Given the description of an element on the screen output the (x, y) to click on. 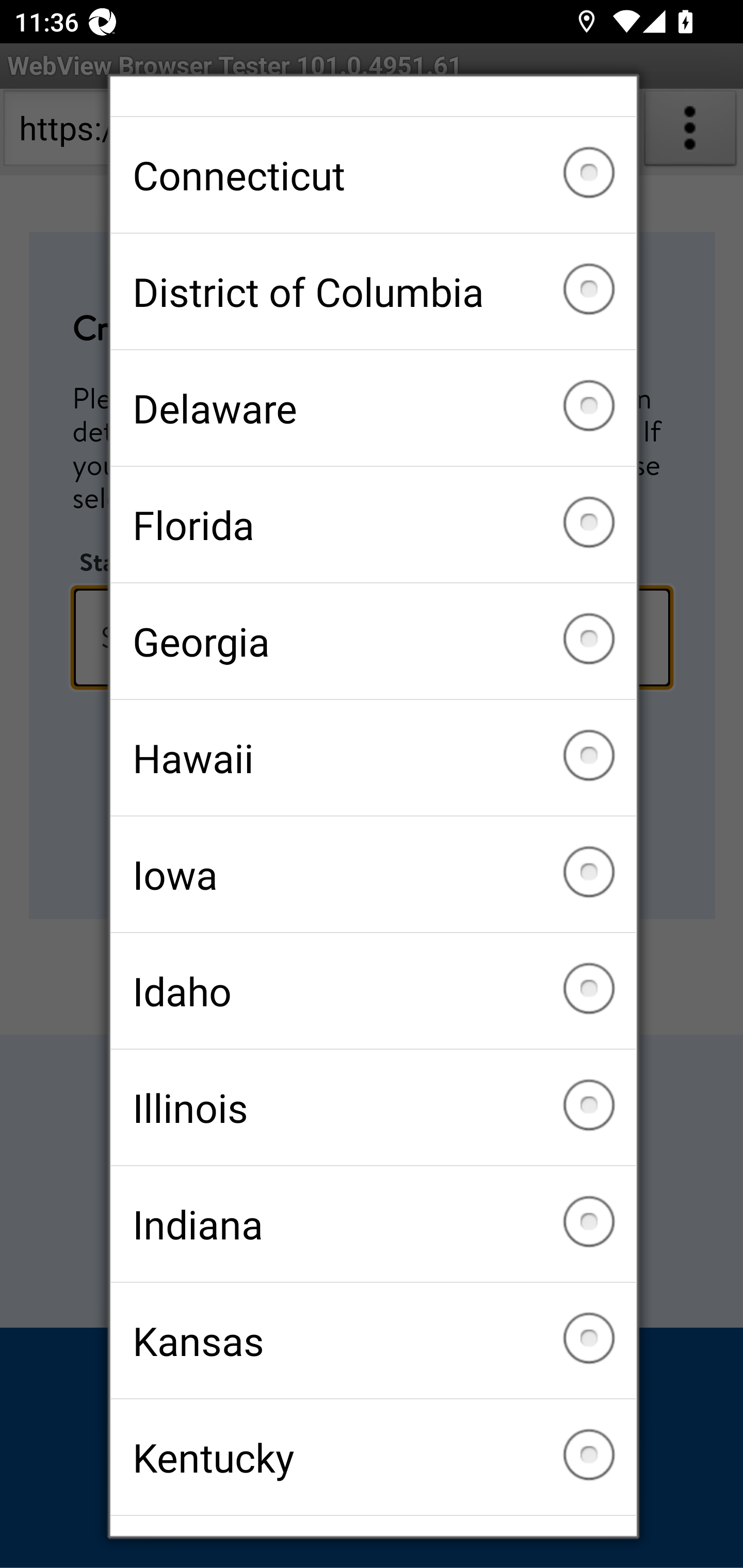
Connecticut (373, 174)
District of Columbia (373, 291)
Delaware (373, 407)
Florida (373, 524)
Georgia (373, 641)
Hawaii (373, 757)
Iowa (373, 873)
Idaho (373, 990)
Illinois (373, 1106)
Indiana (373, 1223)
Kansas (373, 1340)
Kentucky (373, 1456)
